Given the description of an element on the screen output the (x, y) to click on. 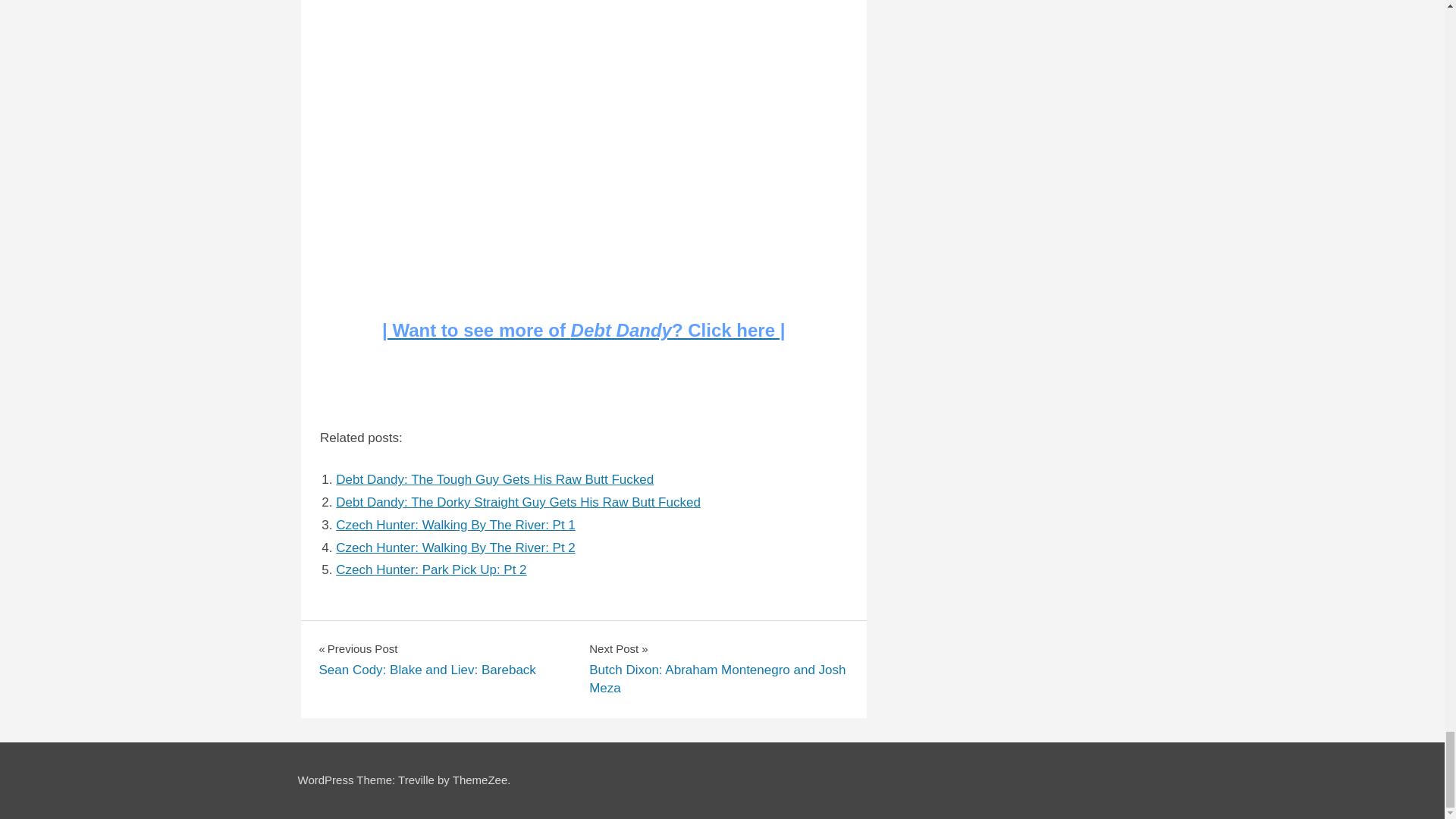
Debt Dandy: The Tough Guy Gets His Raw Butt Fucked (494, 479)
BAREBACK (352, 624)
Czech Hunter: Park Pick Up: Pt 2 (430, 569)
DEBT DANDY (347, 645)
Debt Dandy: The Dorky Straight Guy Gets His Raw Butt Fucked (518, 502)
Czech Hunter: Walking By The River: Pt 1 (455, 524)
Czech Hunter: Walking By The River: Pt 2 (455, 547)
